Given the description of an element on the screen output the (x, y) to click on. 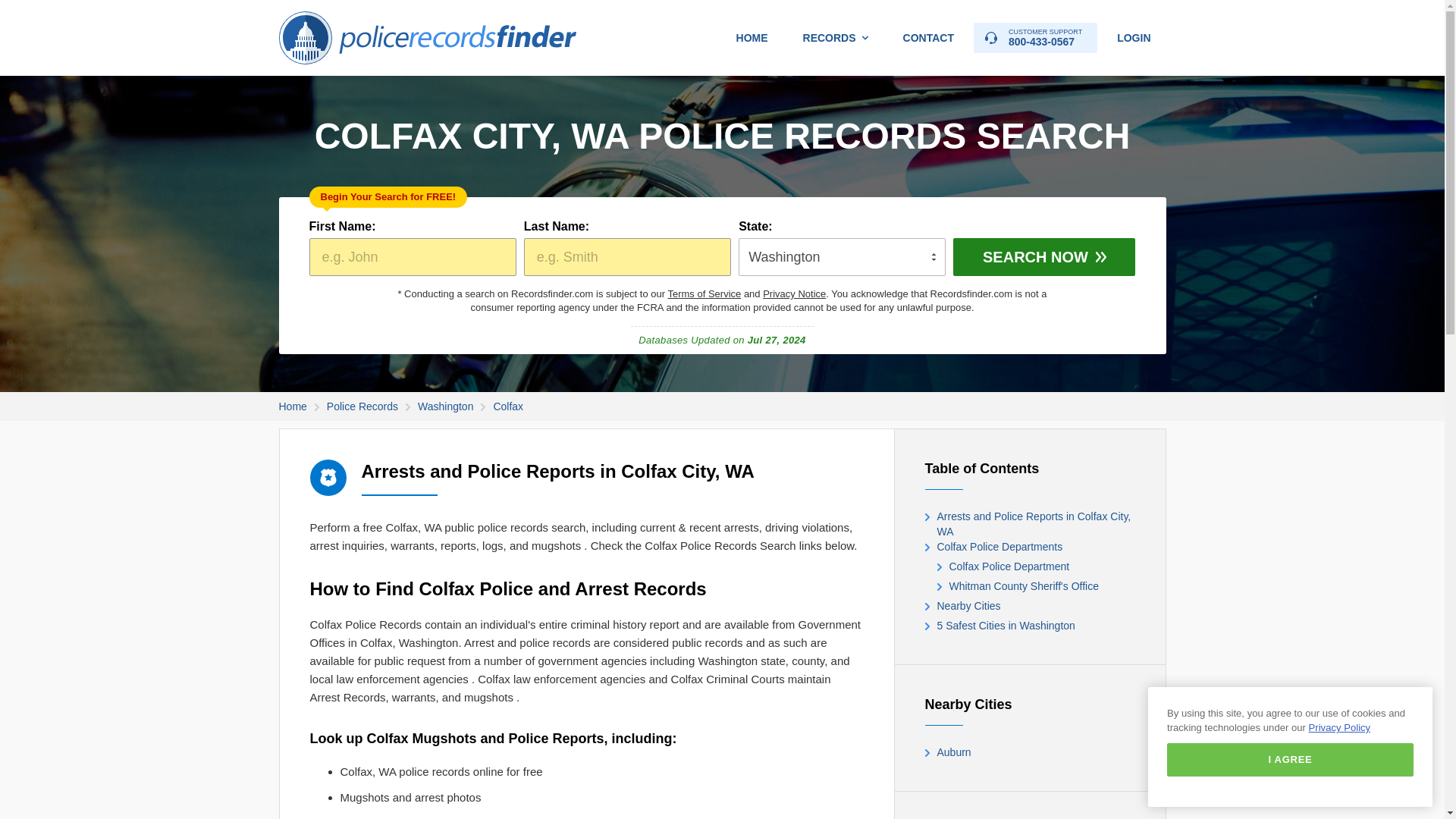
HOME (751, 37)
RECORDS (835, 37)
